Given the description of an element on the screen output the (x, y) to click on. 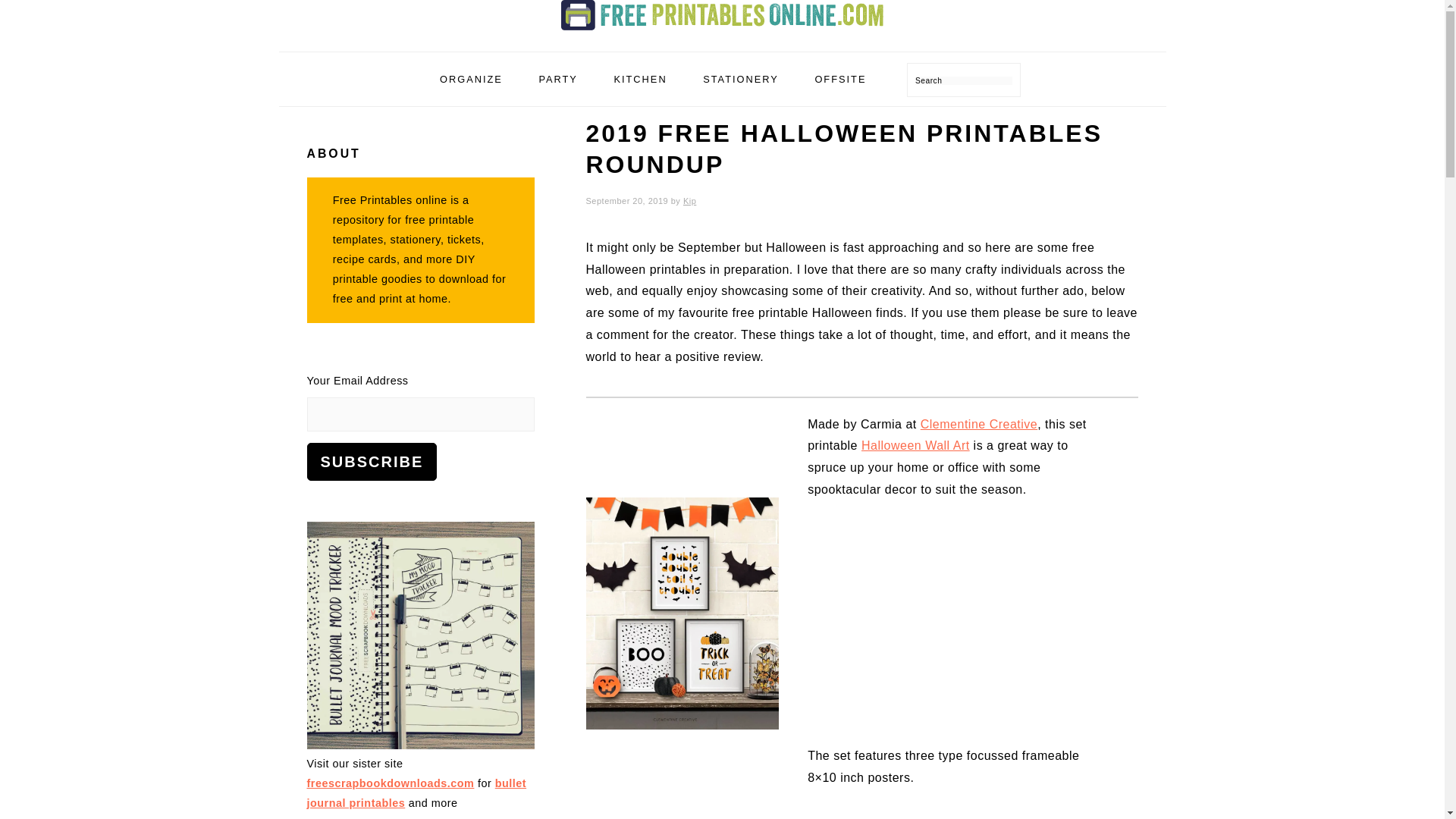
STATIONERY (740, 78)
Free Printables Online (721, 33)
ORGANIZE (470, 78)
Advertisement (958, 635)
Free Printables Online (721, 15)
PARTY (557, 78)
KITCHEN (639, 78)
Subscribe (370, 461)
